Given the description of an element on the screen output the (x, y) to click on. 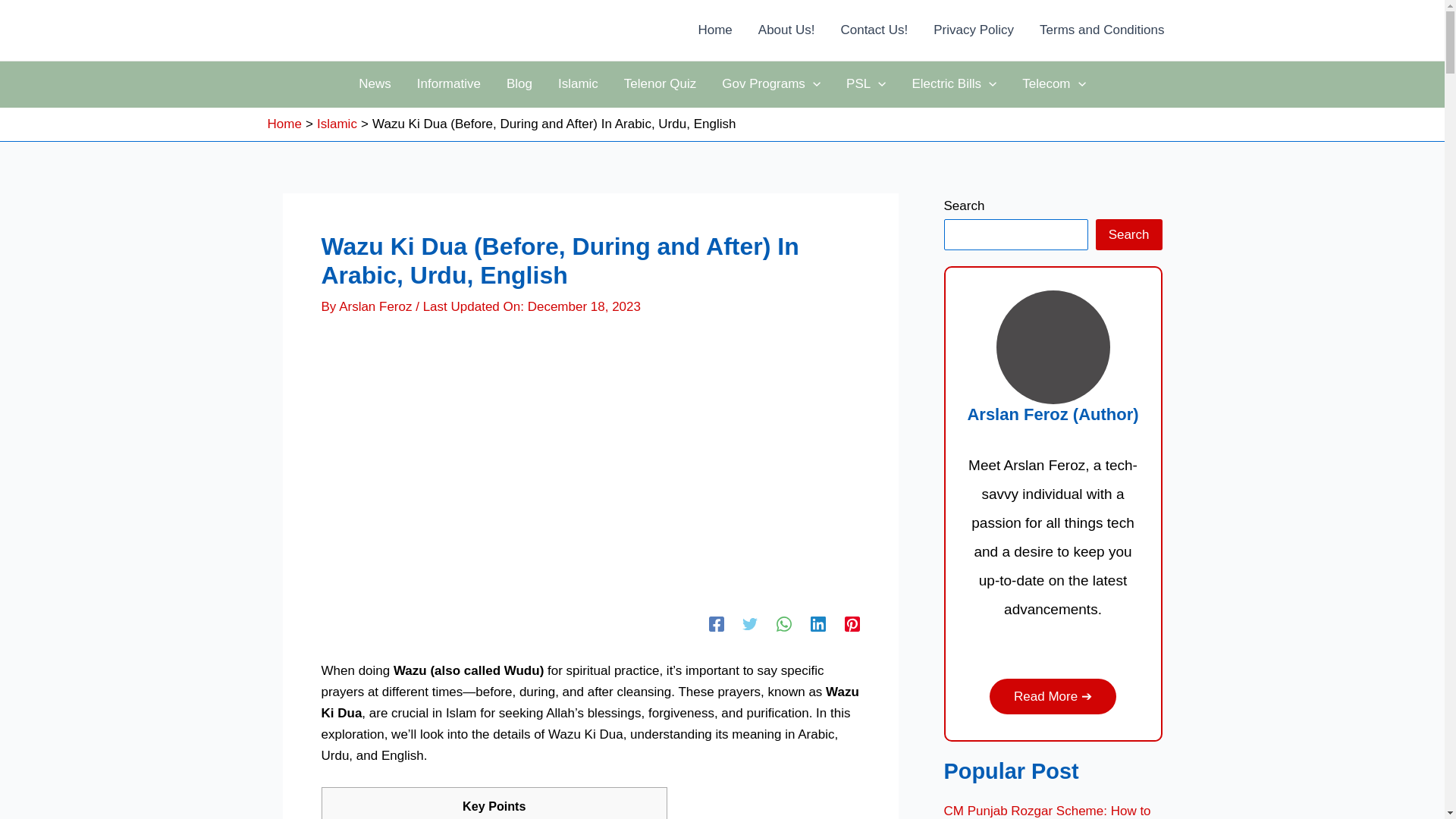
Islamic (577, 84)
PSL (865, 84)
Blog (518, 84)
View all posts by Arslan Feroz (376, 306)
Privacy Policy (973, 30)
Contact Us! (873, 30)
About Us! (786, 30)
Terms and Conditions (1101, 30)
News (375, 84)
Telenor Quiz (660, 84)
Electric Bills (953, 84)
Telecom (1054, 84)
Informative (448, 84)
Gov Programs (770, 84)
Home (714, 30)
